Given the description of an element on the screen output the (x, y) to click on. 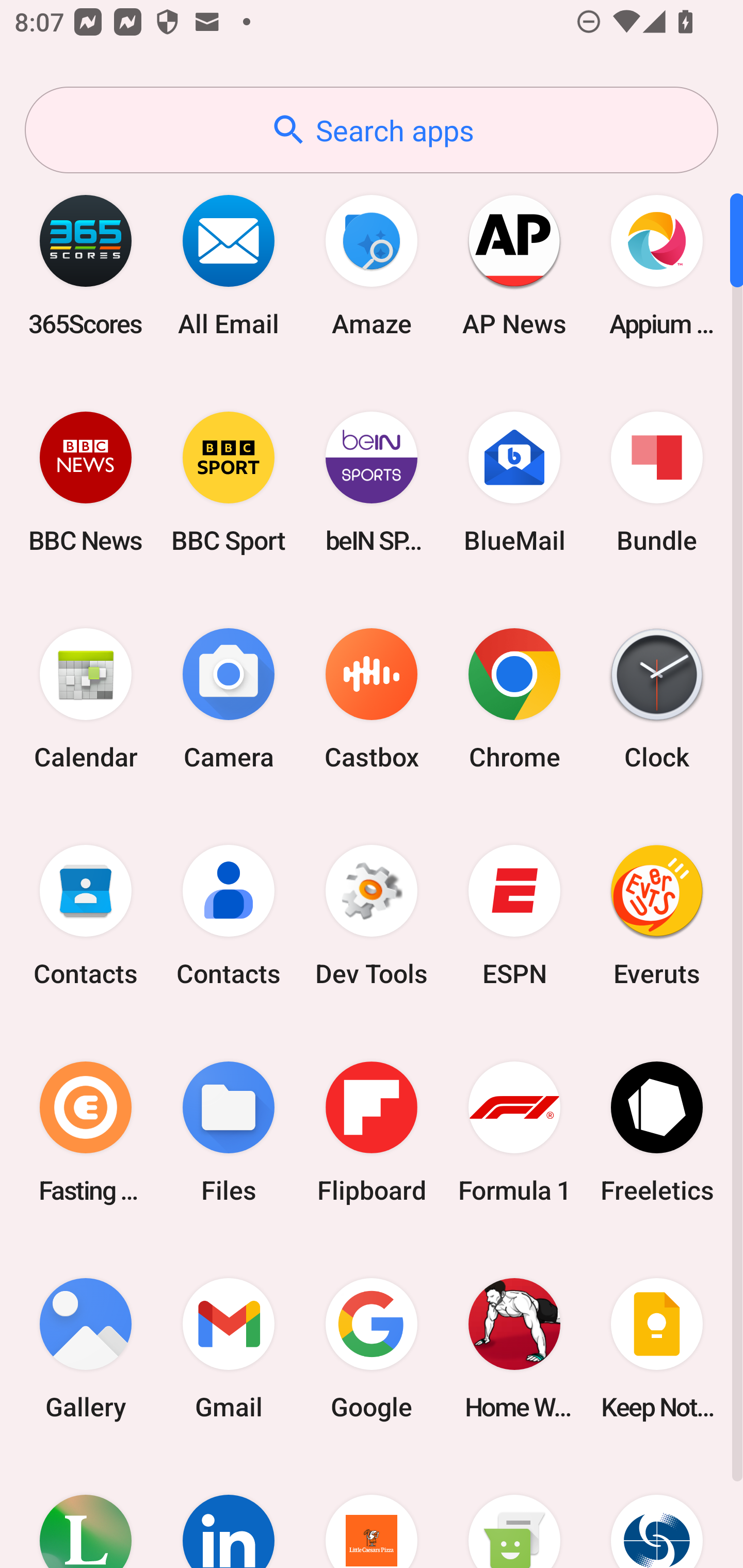
  Search apps (371, 130)
365Scores (85, 264)
All Email (228, 264)
Amaze (371, 264)
AP News (514, 264)
Appium Settings (656, 264)
BBC News (85, 482)
BBC Sport (228, 482)
beIN SPORTS (371, 482)
BlueMail (514, 482)
Bundle (656, 482)
Calendar (85, 699)
Camera (228, 699)
Castbox (371, 699)
Chrome (514, 699)
Clock (656, 699)
Contacts (85, 915)
Contacts (228, 915)
Dev Tools (371, 915)
ESPN (514, 915)
Everuts (656, 915)
Fasting Coach (85, 1131)
Files (228, 1131)
Flipboard (371, 1131)
Formula 1 (514, 1131)
Freeletics (656, 1131)
Gallery (85, 1348)
Gmail (228, 1348)
Google (371, 1348)
Home Workout (514, 1348)
Keep Notes (656, 1348)
